Given the description of an element on the screen output the (x, y) to click on. 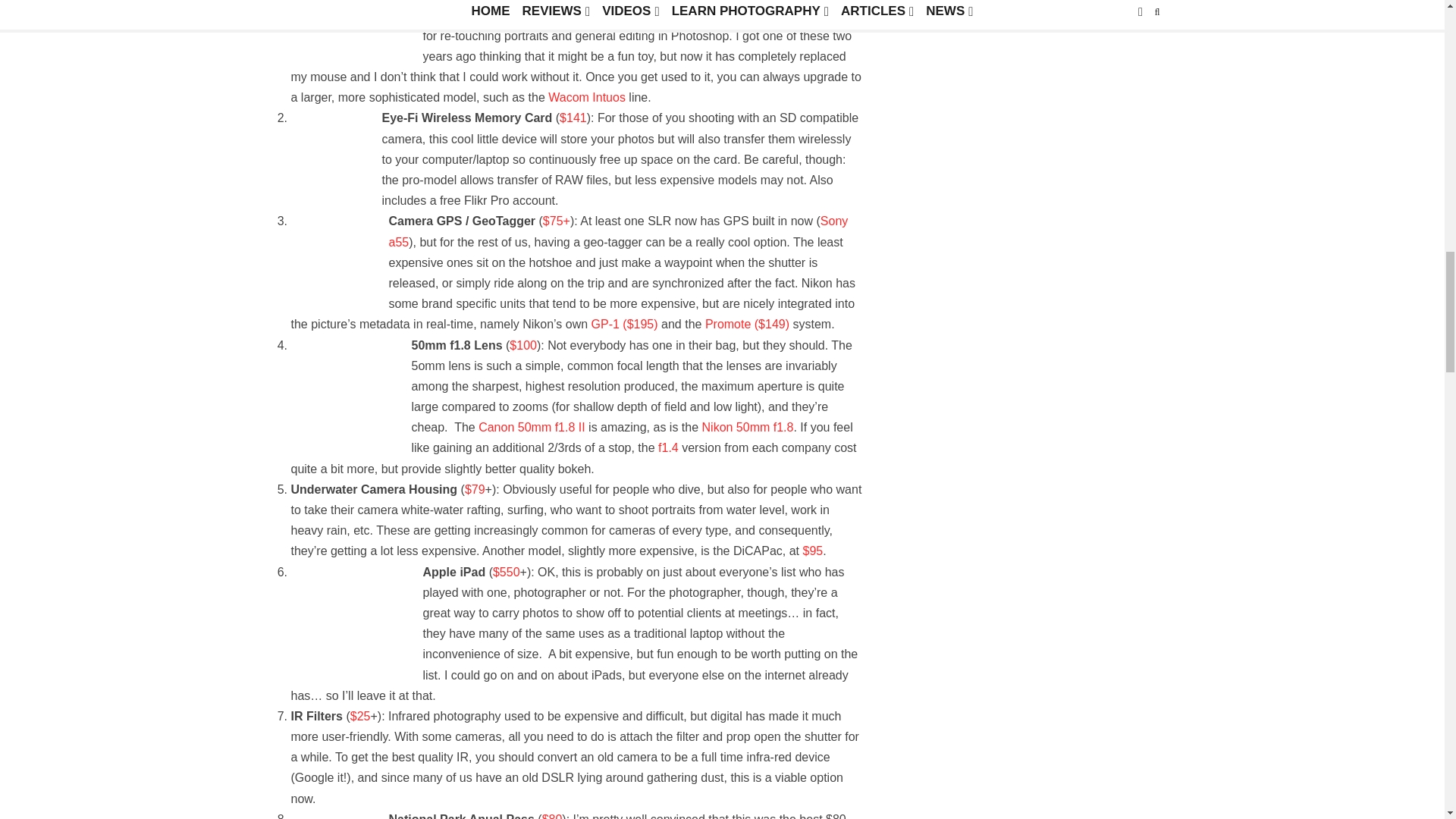
ipad (347, 610)
Eye-fi (327, 151)
wacombamboo (347, 17)
canon50mm (342, 387)
PhotoTrackr (331, 253)
anualpass (331, 817)
